Given the description of an element on the screen output the (x, y) to click on. 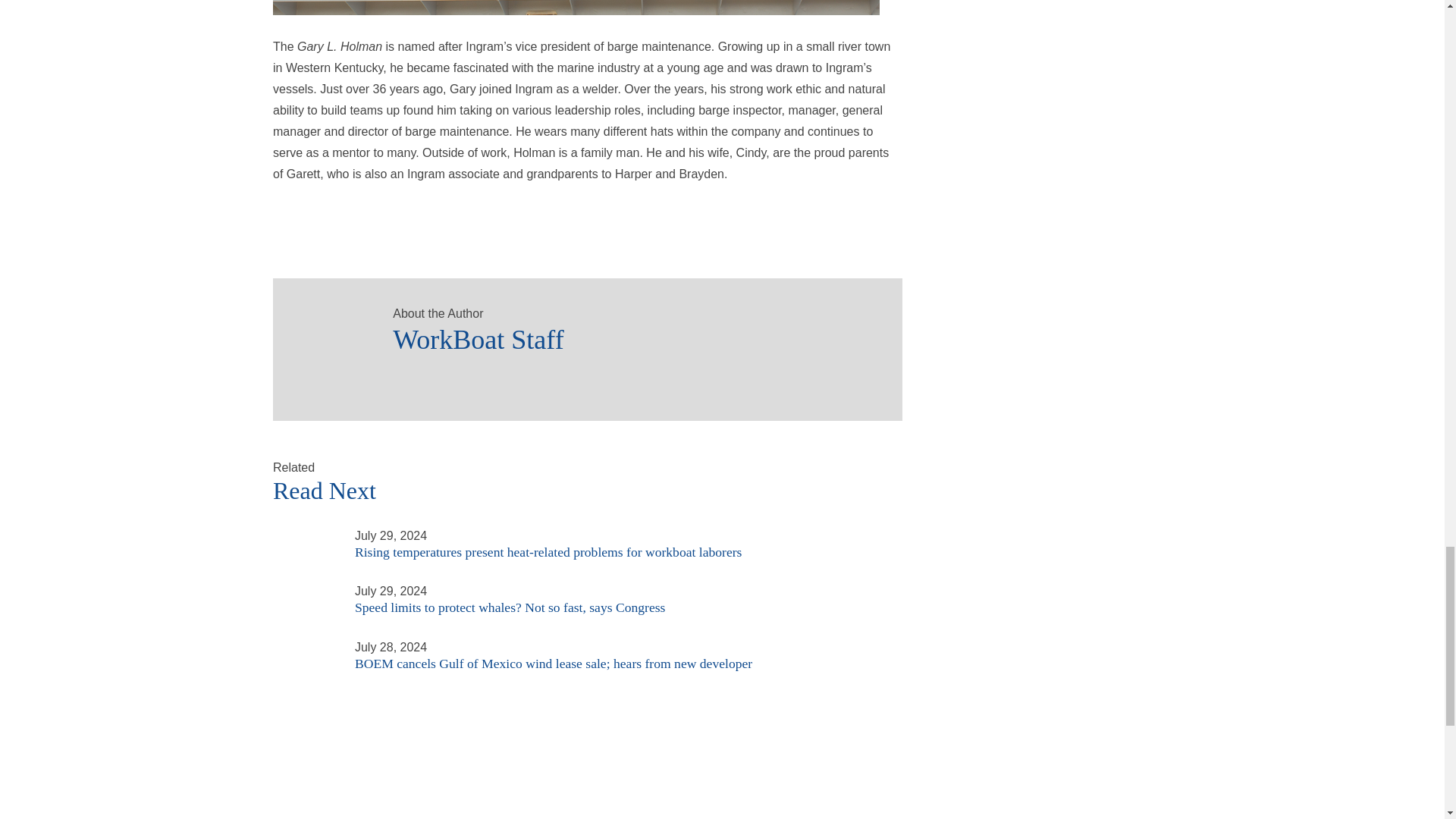
WorkBoat Staff (631, 335)
WorkBoat Staff (325, 330)
Speed limits to protect whales? Not so fast, says Congress (304, 589)
